Given the description of an element on the screen output the (x, y) to click on. 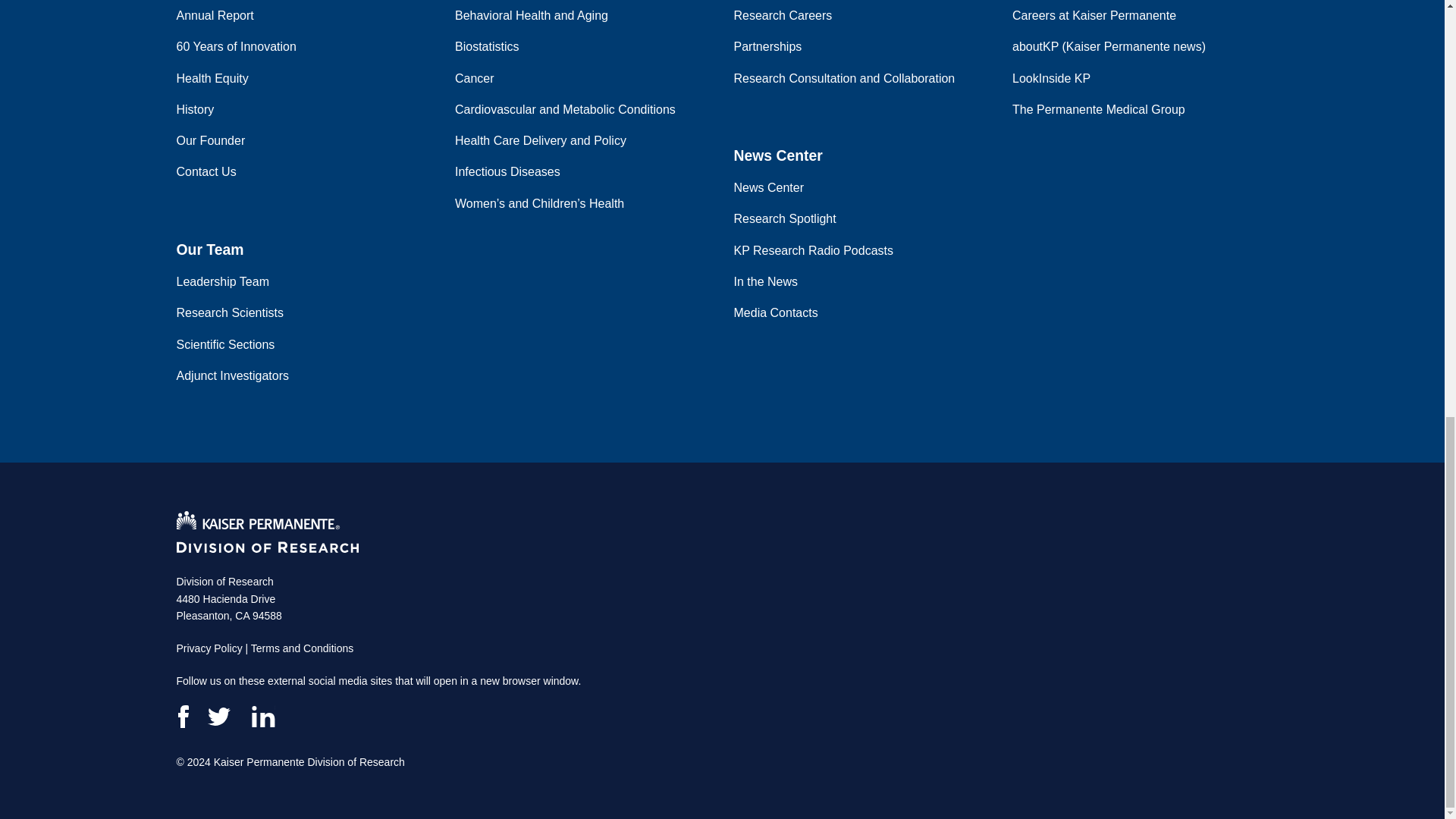
Twitter (219, 716)
Linked In (262, 716)
